Given the description of an element on the screen output the (x, y) to click on. 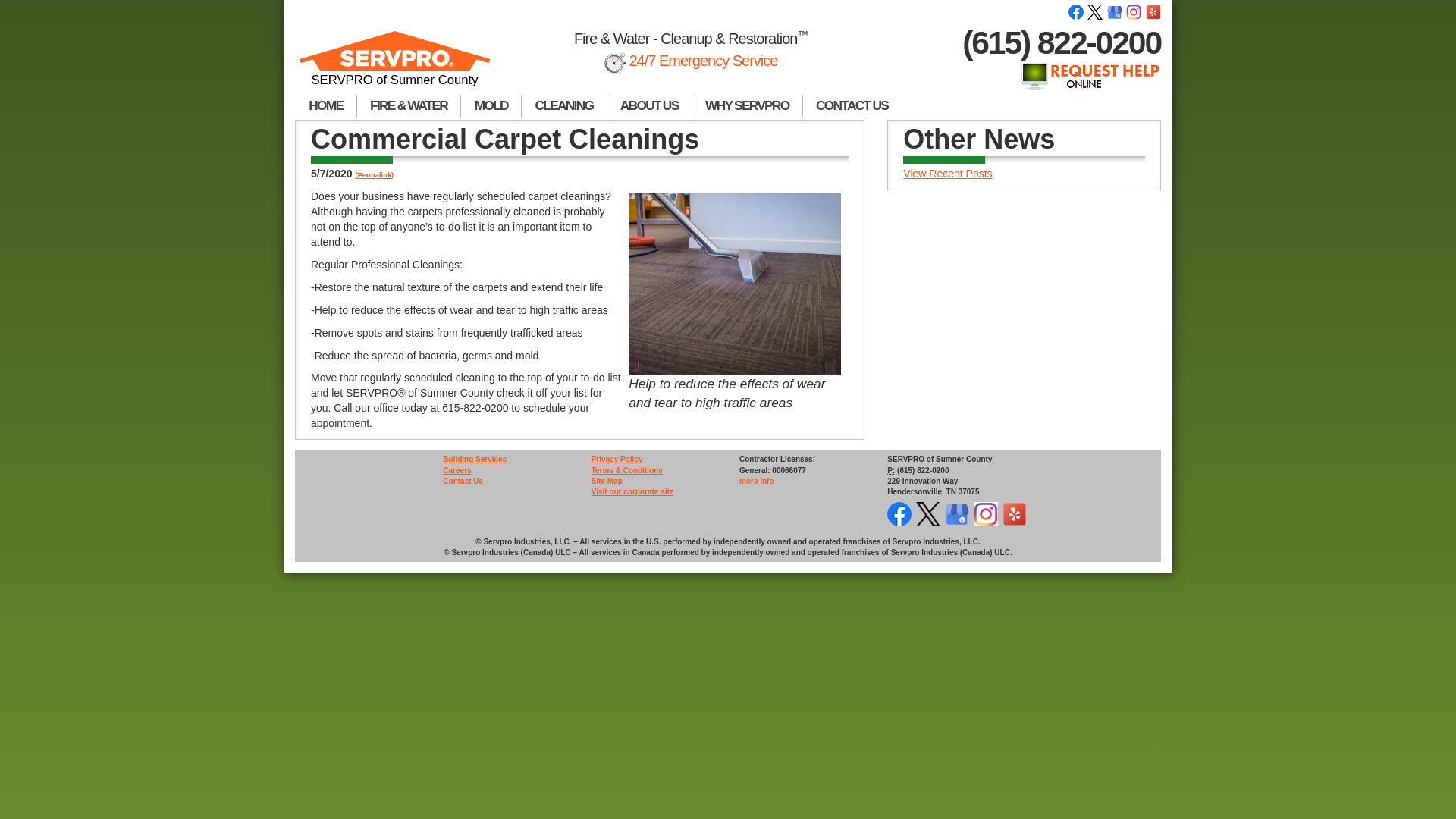
ABOUT US (649, 106)
HOME (325, 106)
CLEANING (564, 106)
MOLD (491, 106)
SERVPRO of Sumner County (395, 64)
